Given the description of an element on the screen output the (x, y) to click on. 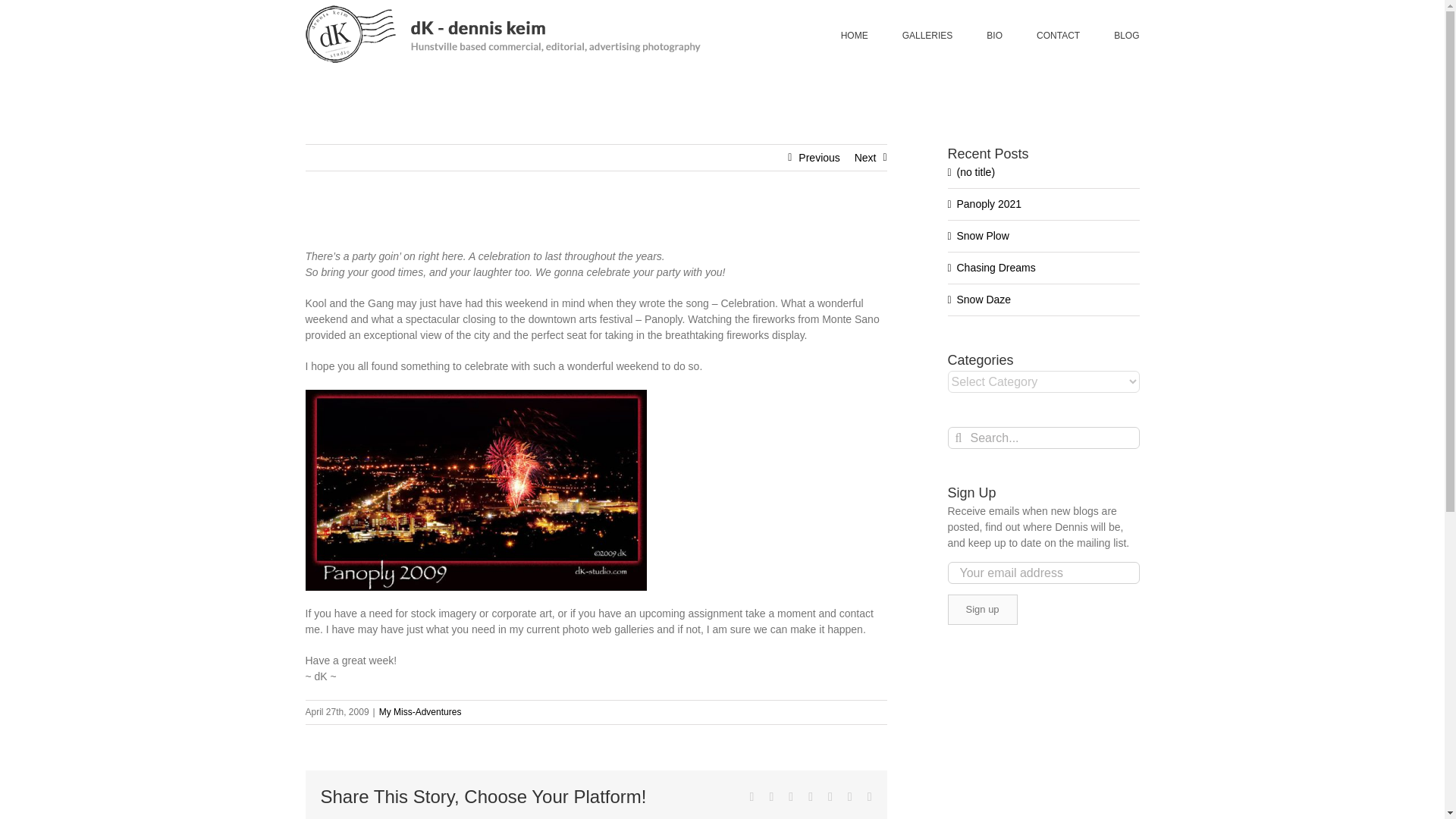
Previous (818, 157)
Sign up (982, 609)
Panoply Fireworks (475, 489)
